Given the description of an element on the screen output the (x, y) to click on. 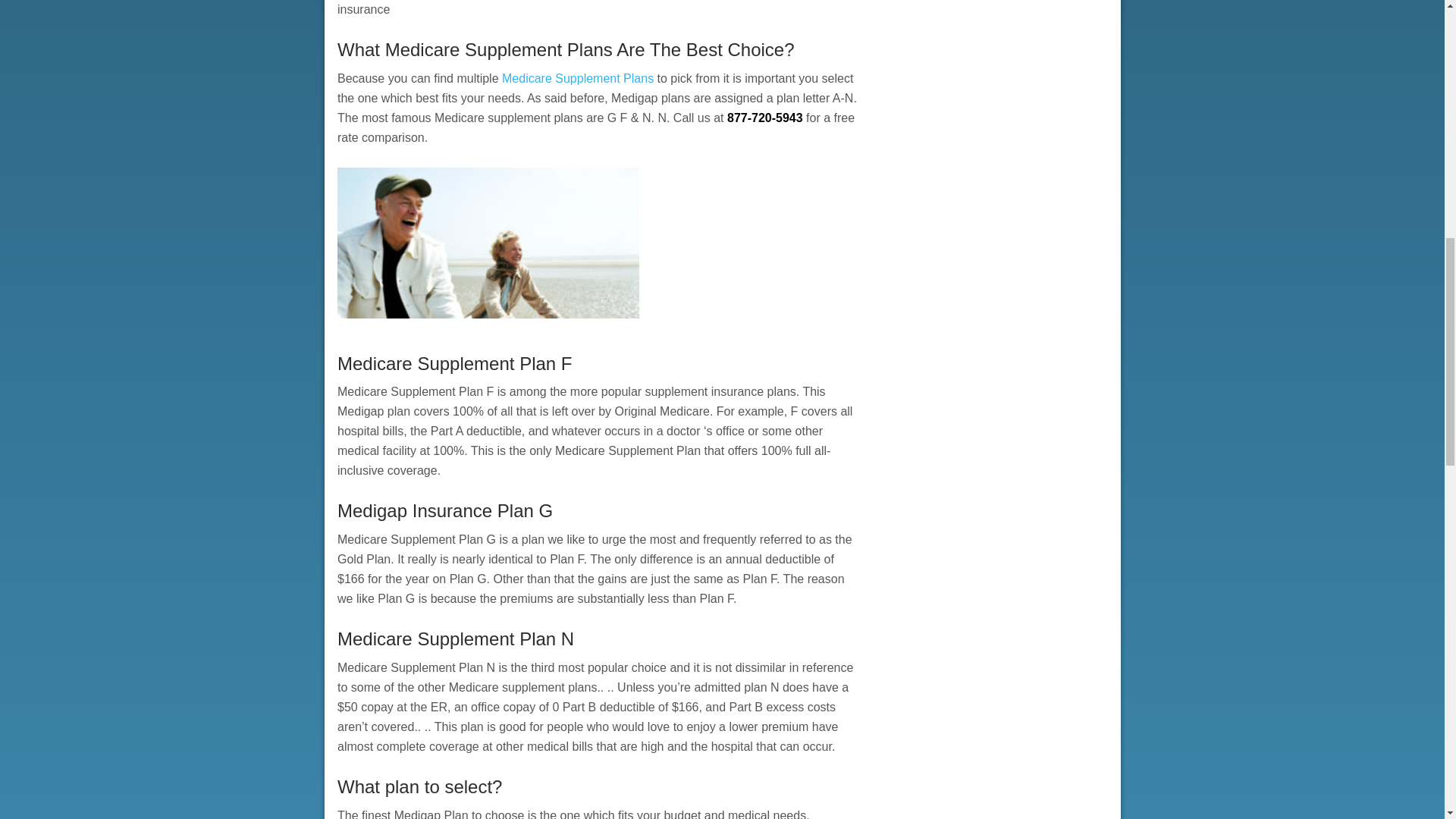
Medicare Supplement Plans (577, 78)
